Given the description of an element on the screen output the (x, y) to click on. 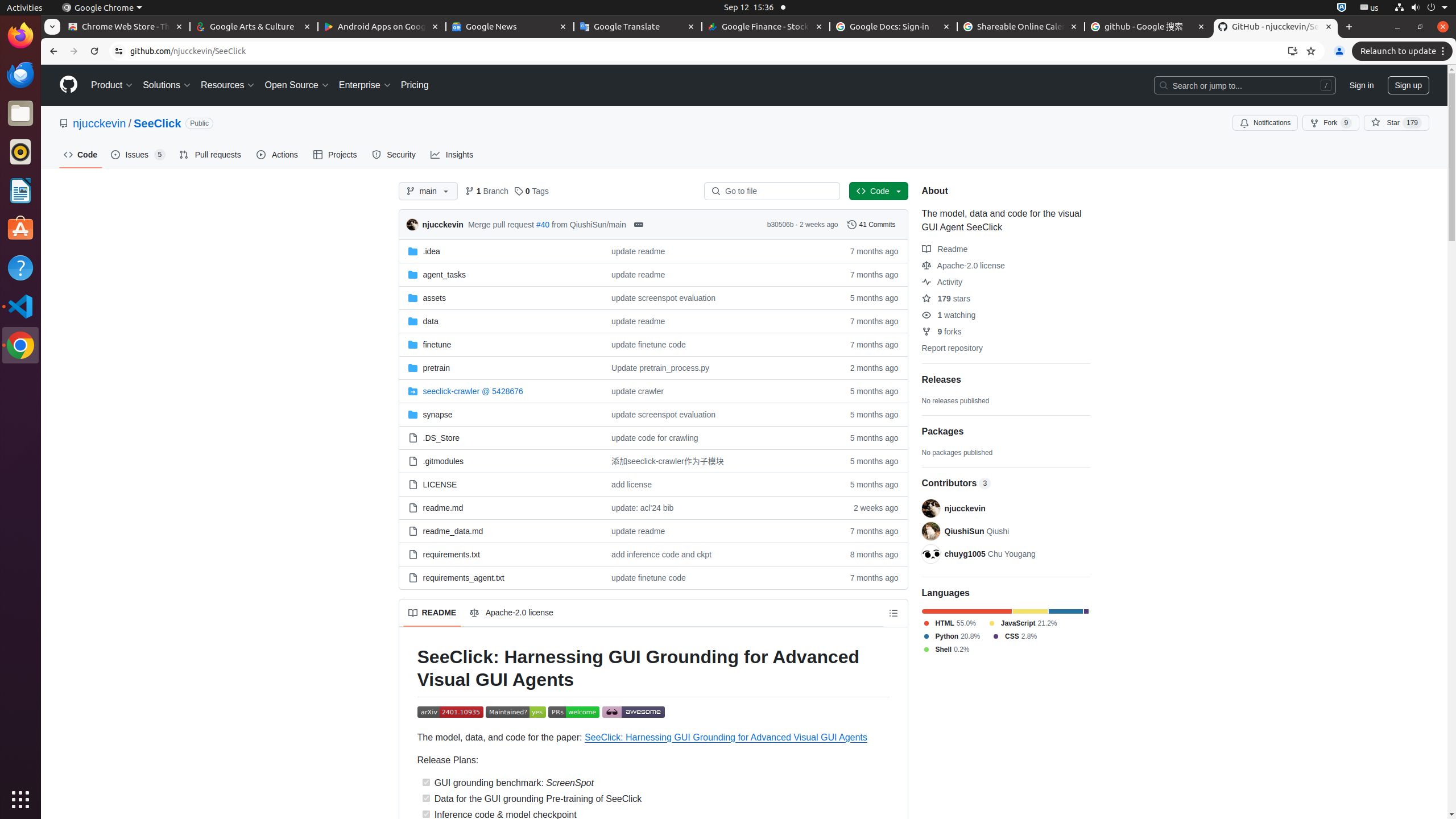
0 Tags Element type: link (530, 191)
Google Arts & Culture - Memory usage - 60.0 MB Element type: page-tab (253, 26)
Code Element type: push-button (878, 191)
View site information Element type: push-button (118, 51)
You must be signed in to star a repository Element type: link (1396, 122)
